Given the description of an element on the screen output the (x, y) to click on. 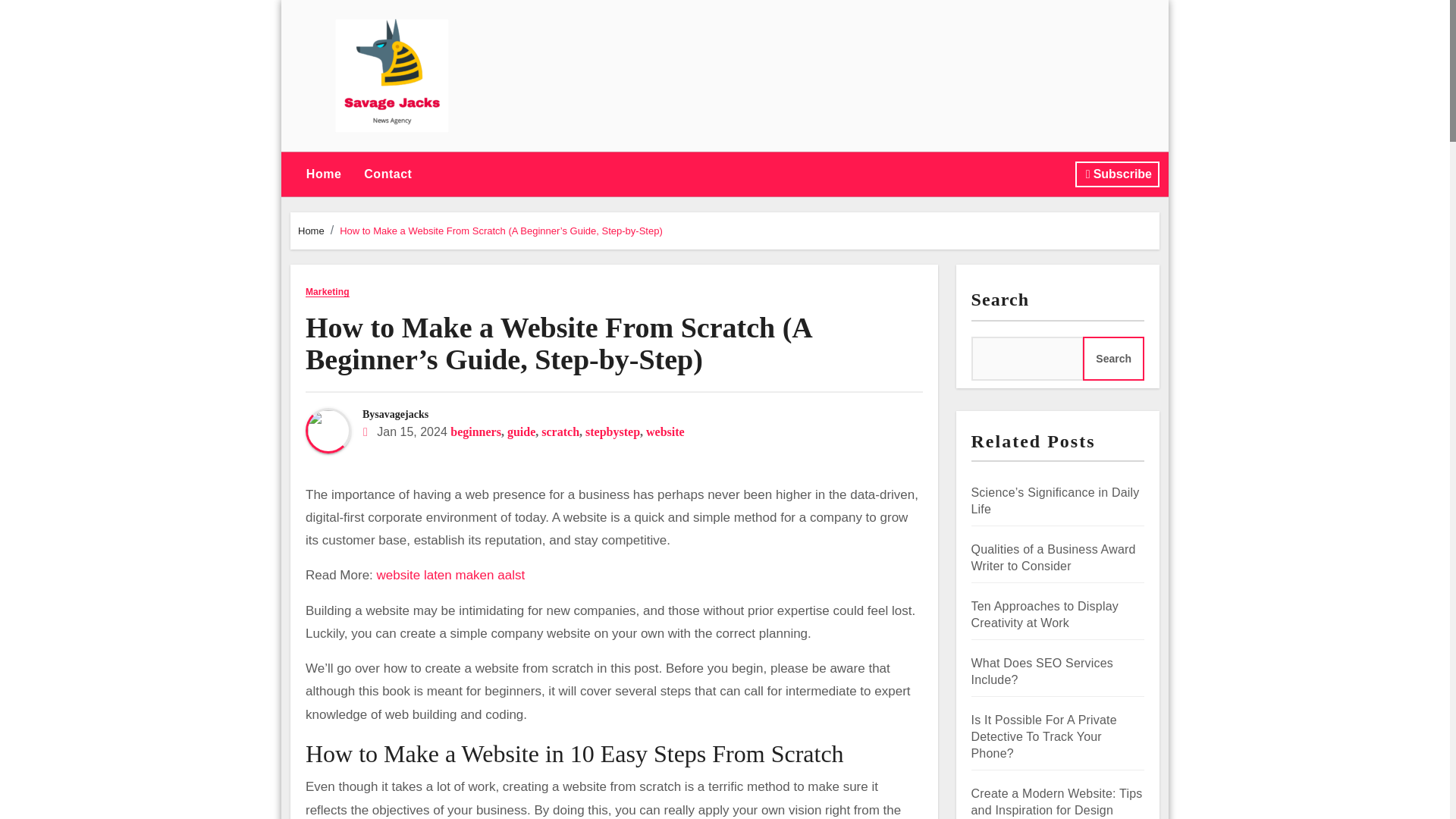
Home (311, 230)
Marketing (327, 292)
Home (323, 174)
scratch (560, 431)
beginners (474, 431)
website (665, 431)
stepbystep (612, 431)
website laten maken aalst (451, 575)
guide (520, 431)
Home (323, 174)
Subscribe (1116, 174)
Contact (387, 174)
savagejacks (401, 414)
